Given the description of an element on the screen output the (x, y) to click on. 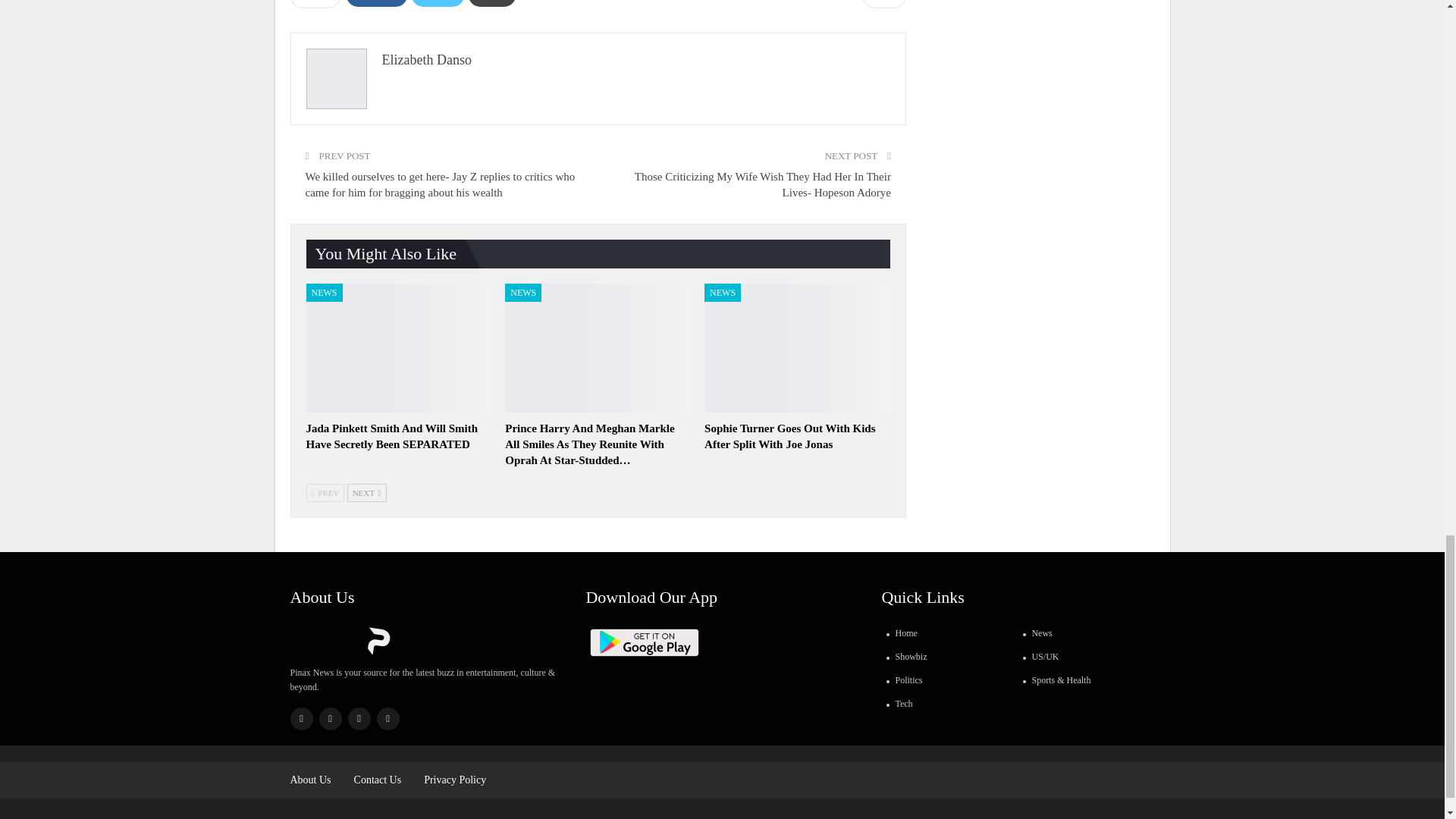
Twitter (437, 3)
Email (492, 3)
Sophie Turner Goes Out With Kids After Split With Joe Jonas (796, 348)
Facebook (376, 3)
